Given the description of an element on the screen output the (x, y) to click on. 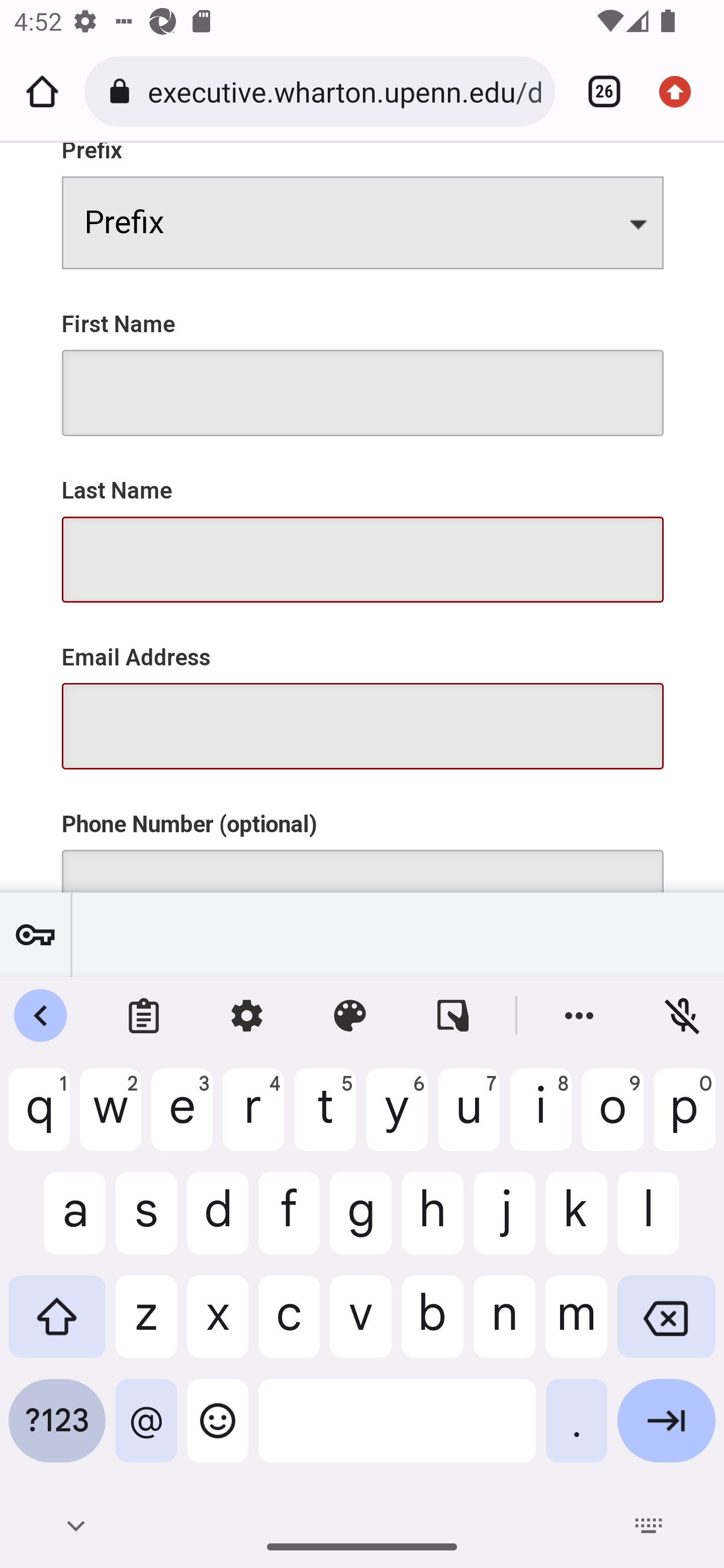
Home (42, 91)
Connection is secure (122, 91)
Switch or close tabs (597, 91)
Update available. More options (681, 91)
Prefix (362, 206)
First Name (362, 361)
Last Name (362, 529)
Email Address (362, 694)
Phone Number (optional) (362, 839)
Show passwords (35, 934)
